Given the description of an element on the screen output the (x, y) to click on. 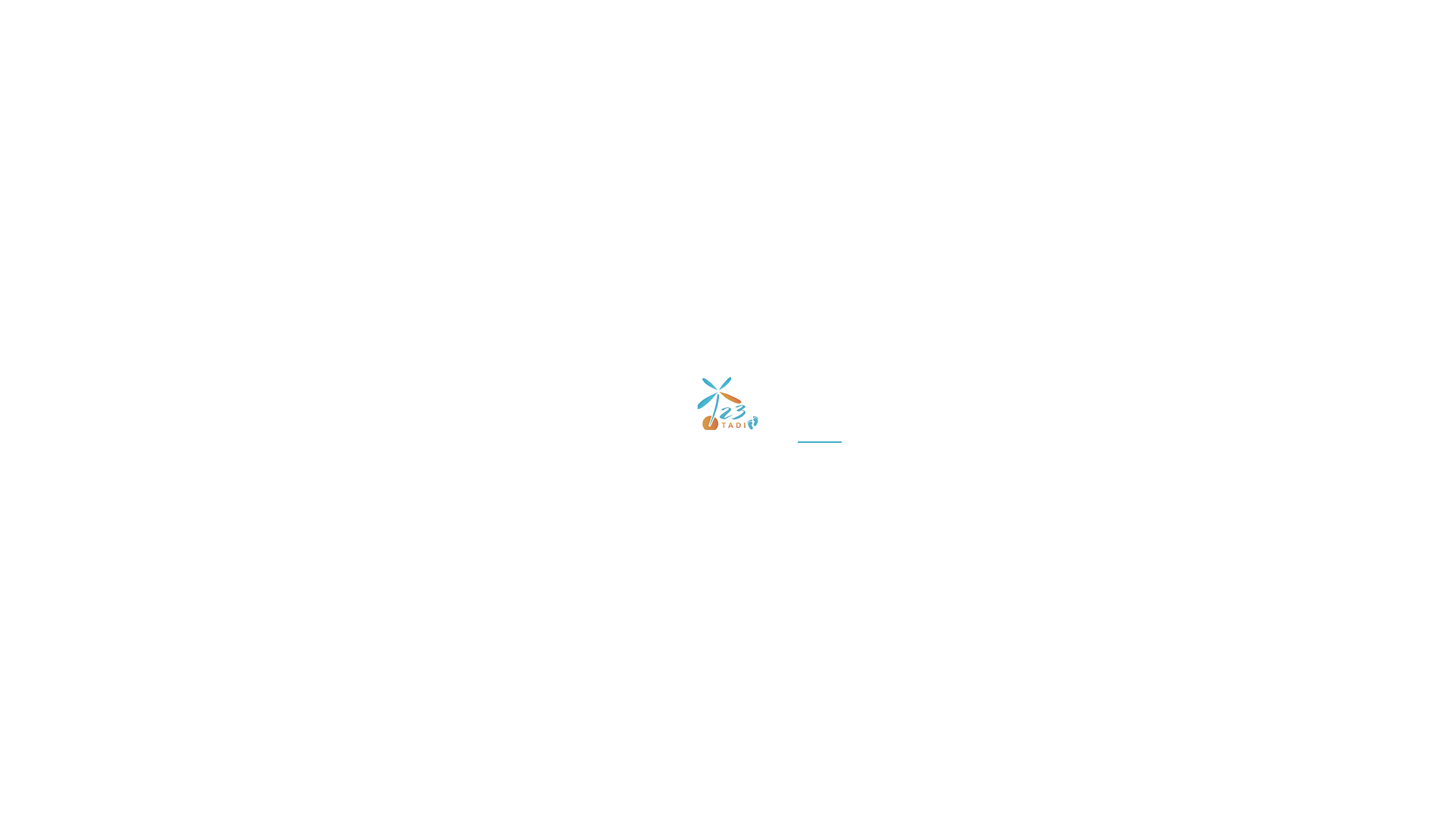
Language Element type: hover (1113, 18)
VISA Element type: text (984, 76)
VIDEO Element type: text (1145, 76)
Sa Pa Element type: text (648, 261)
TOUR Element type: text (841, 76)
123tadi Element type: text (528, 531)
